Given the description of an element on the screen output the (x, y) to click on. 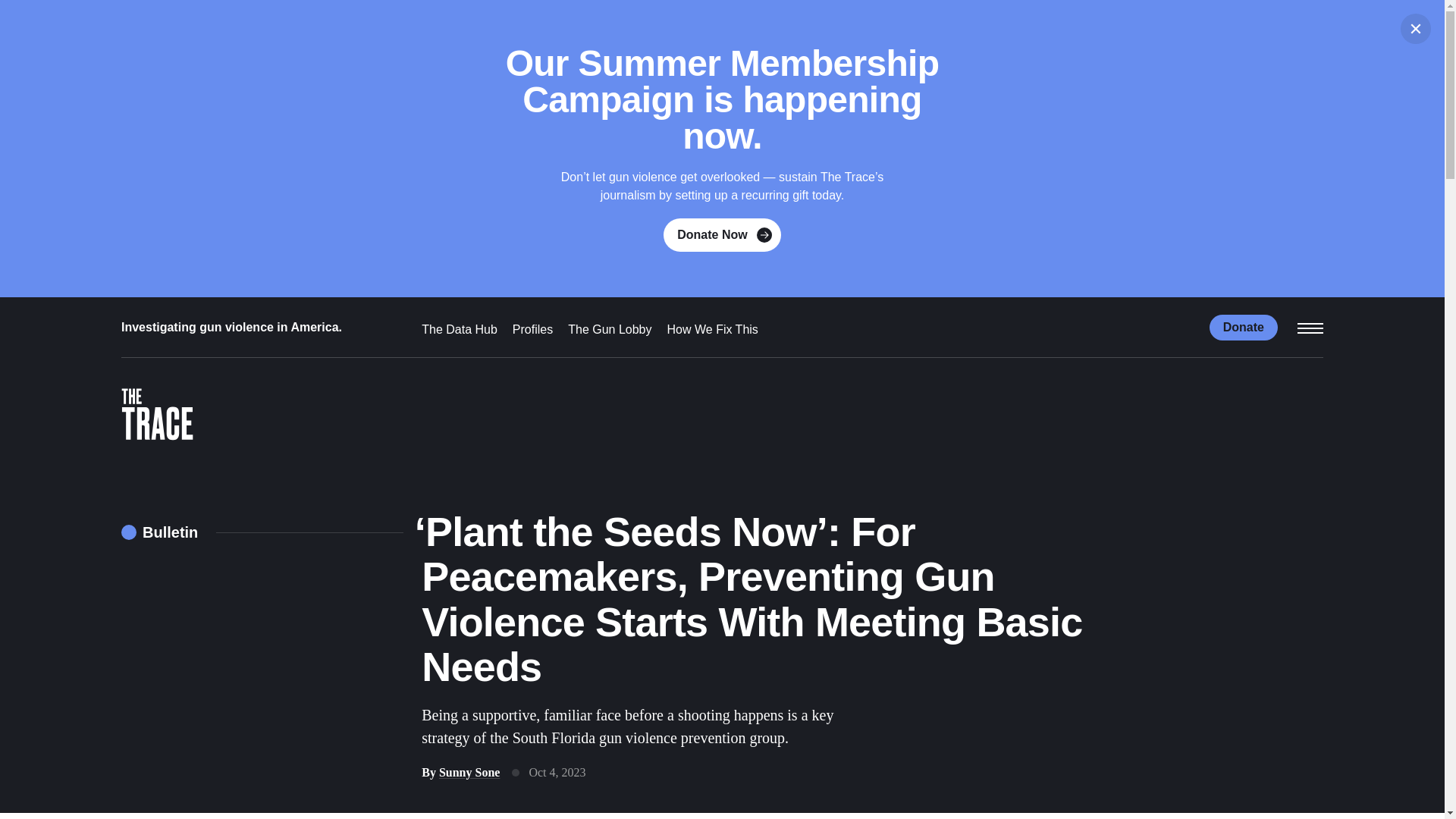
The Data Hub (459, 328)
How We Fix This (712, 328)
Profiles (532, 328)
The Gun Lobby (608, 328)
Donate (1243, 326)
Close (1415, 28)
Donate Now (721, 234)
The Trace (156, 417)
Bulletin (159, 532)
Sunny Sone (469, 771)
